Given the description of an element on the screen output the (x, y) to click on. 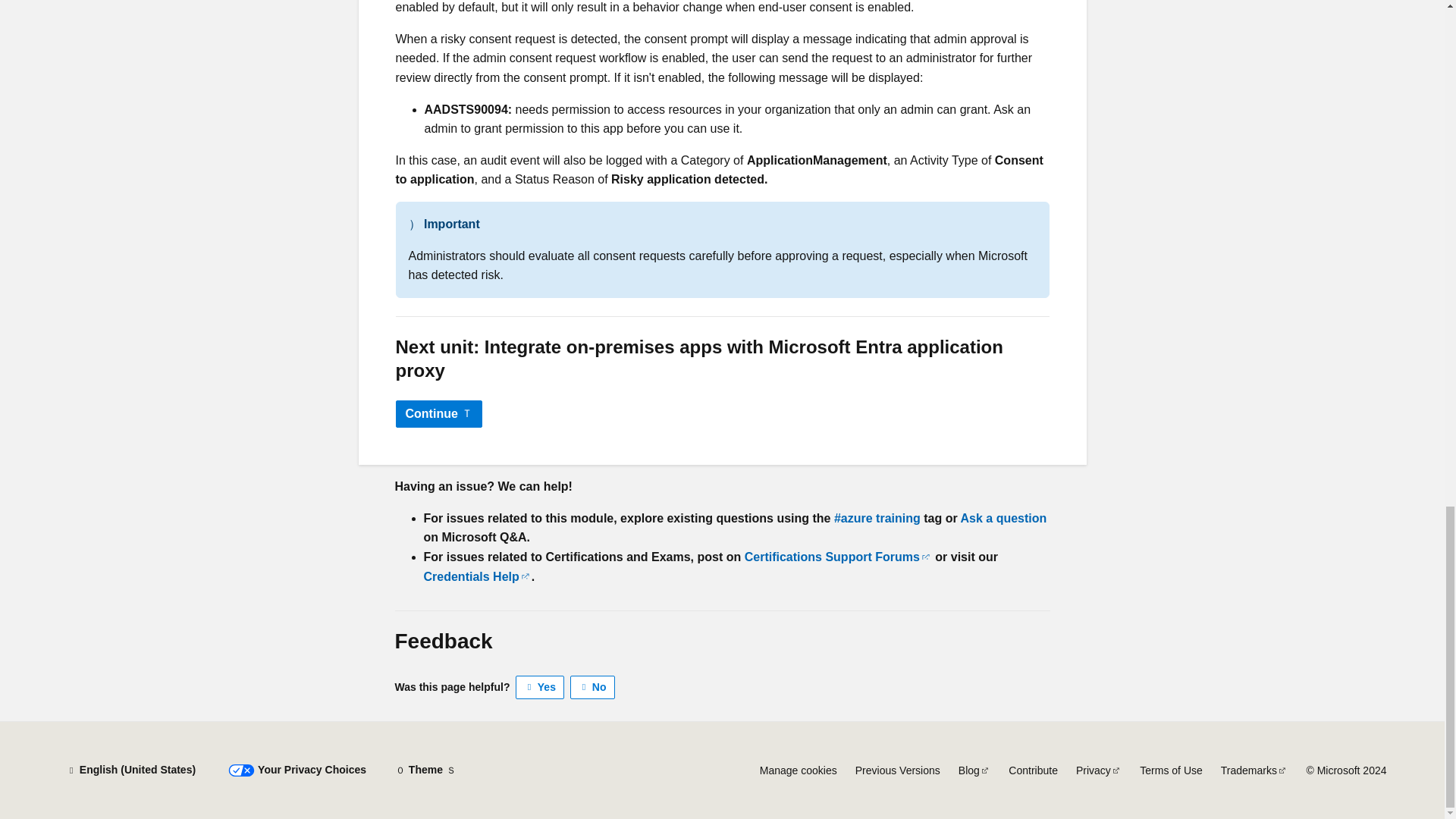
Theme (425, 770)
This article is helpful (539, 687)
This article is not helpful (592, 687)
